Given the description of an element on the screen output the (x, y) to click on. 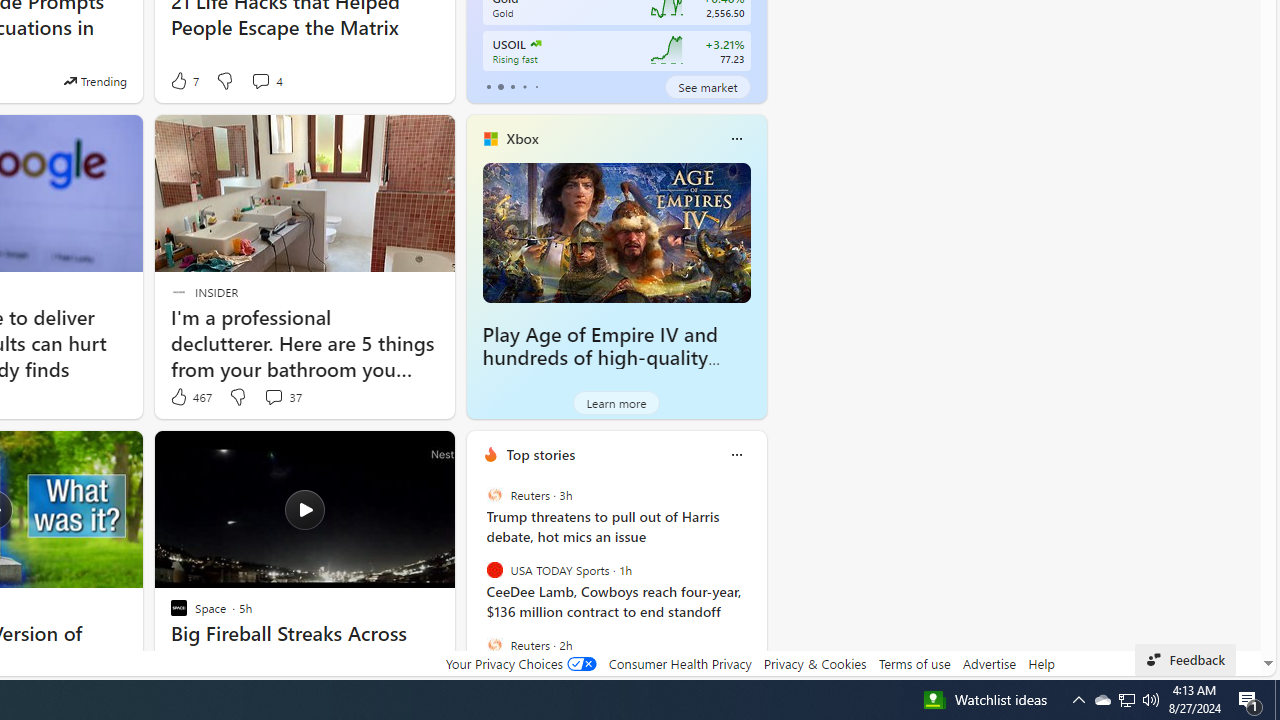
next (756, 583)
US Oil WTI (534, 43)
tab-2 (511, 86)
View comments 37 Comment (273, 396)
previous (476, 583)
Hide this story (393, 454)
View comments 4 Comment (265, 80)
Learn more (616, 402)
